Given the description of an element on the screen output the (x, y) to click on. 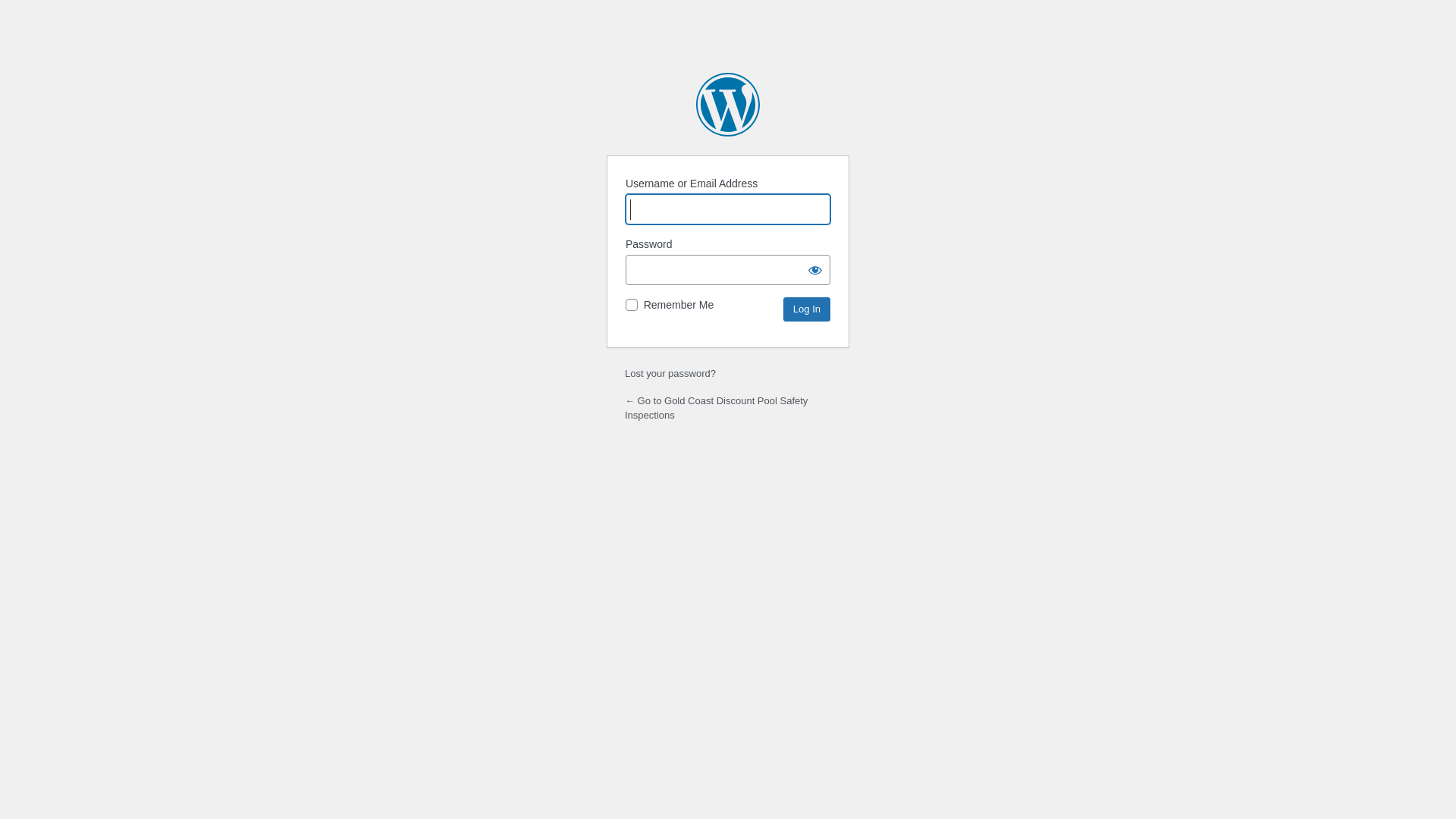
Powered by WordPress Element type: text (727, 104)
Log In Element type: text (806, 309)
Lost your password? Element type: text (669, 373)
